Given the description of an element on the screen output the (x, y) to click on. 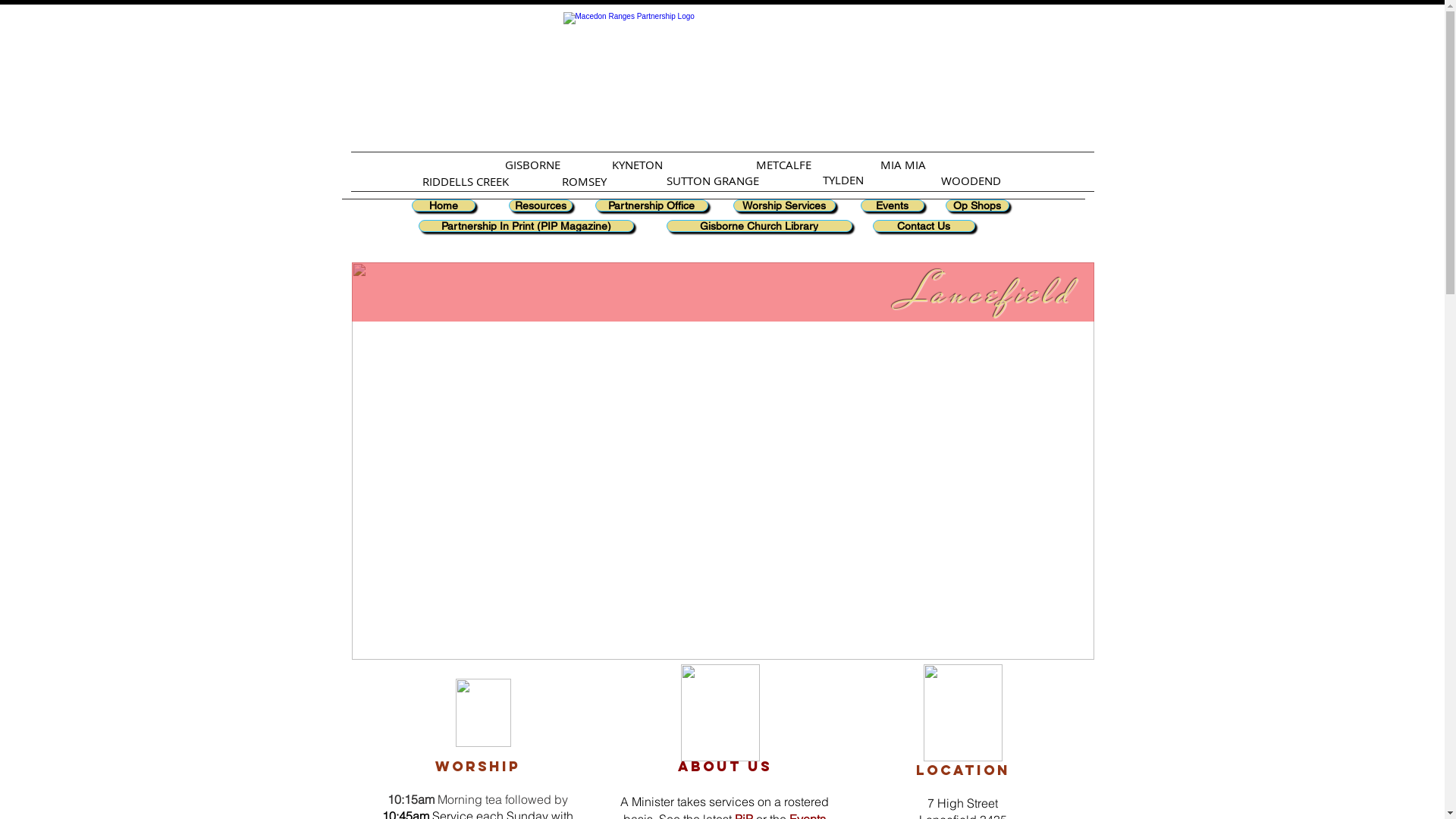
MIA MIA Element type: text (902, 164)
Home Element type: hover (715, 76)
Worship Services Element type: text (783, 205)
GISBORNE Element type: text (532, 164)
RIDDELLS CREEK Element type: text (464, 180)
Gisborne Church Library Element type: text (758, 225)
Events Element type: text (891, 205)
SUTTON GRANGE Element type: text (712, 180)
Op Shops Element type: text (976, 205)
Resources Element type: text (539, 205)
64993992.jpg Element type: hover (722, 460)
TYLDEN Element type: text (842, 179)
Partnership In Print (PIP Magazine) Element type: text (525, 225)
ROMSEY Element type: text (583, 180)
Partnership Office Element type: text (650, 205)
Contact Us Element type: text (923, 225)
Home Element type: text (442, 205)
METCALFE Element type: text (783, 164)
WOODEND Element type: text (970, 180)
KYNETON Element type: text (636, 164)
